Given the description of an element on the screen output the (x, y) to click on. 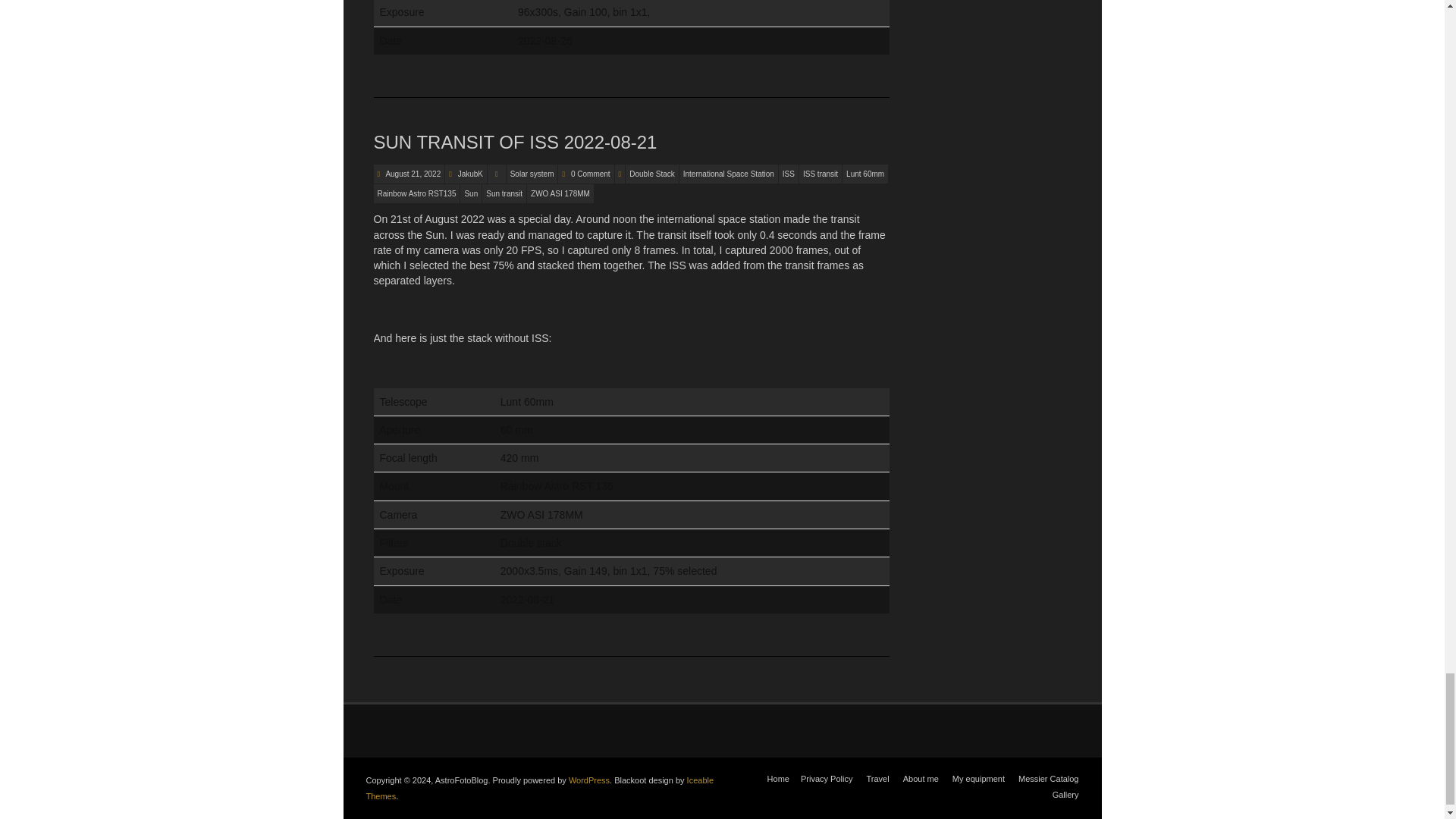
Category (496, 173)
Sun transit of ISS 2022-08-21 (412, 173)
View all posts by JakubK (470, 173)
Sun transit of ISS 2022-08-21 (514, 141)
